Given the description of an element on the screen output the (x, y) to click on. 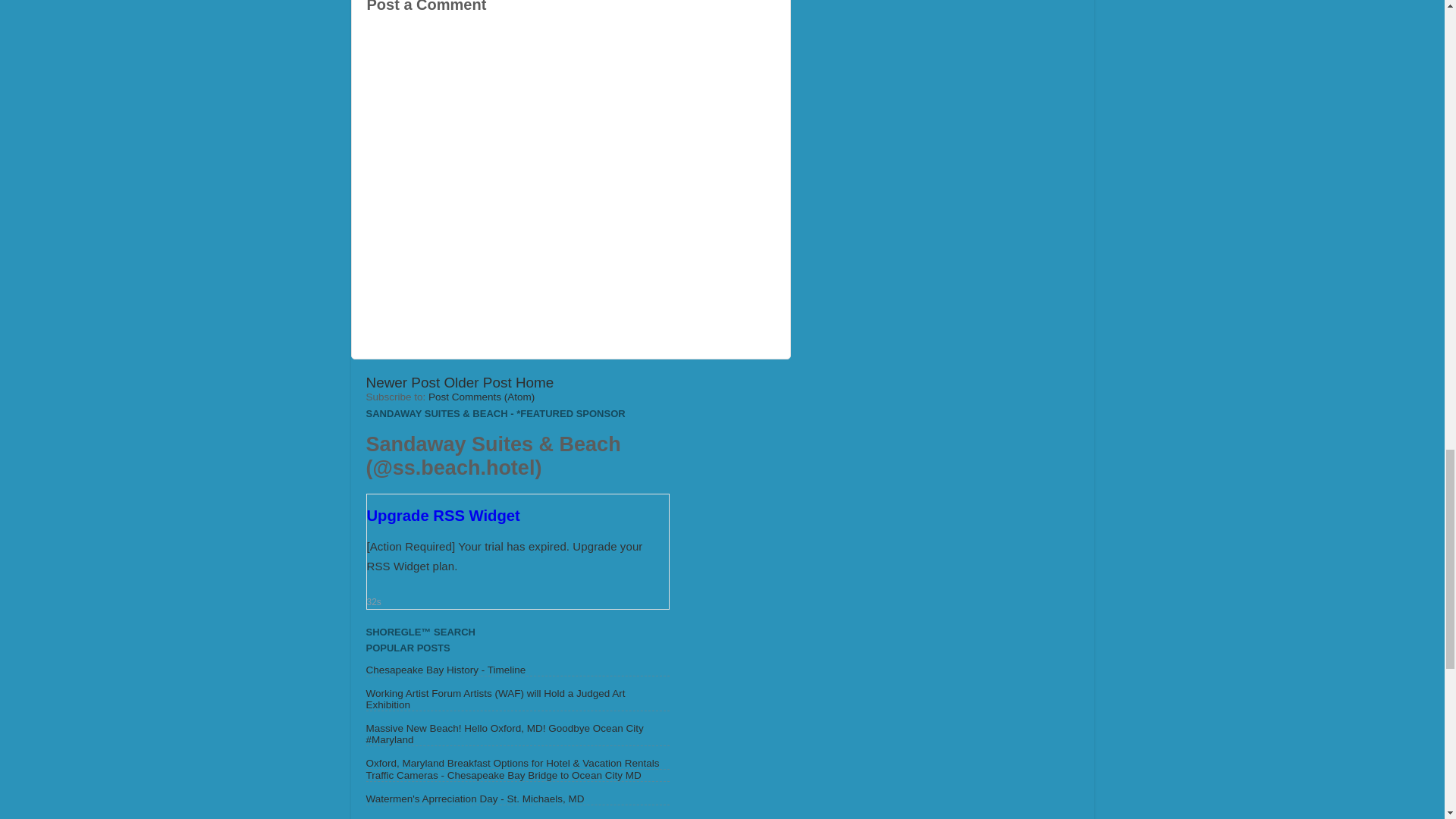
Watermen's Aprreciation Day - St. Michaels, MD (474, 798)
Older Post (477, 382)
Newer Post (402, 382)
Newer Post (402, 382)
Home (534, 382)
Older Post (477, 382)
Traffic Cameras - Chesapeake Bay Bridge to Ocean City MD (502, 775)
Chesapeake Bay History - Timeline (445, 669)
